Given the description of an element on the screen output the (x, y) to click on. 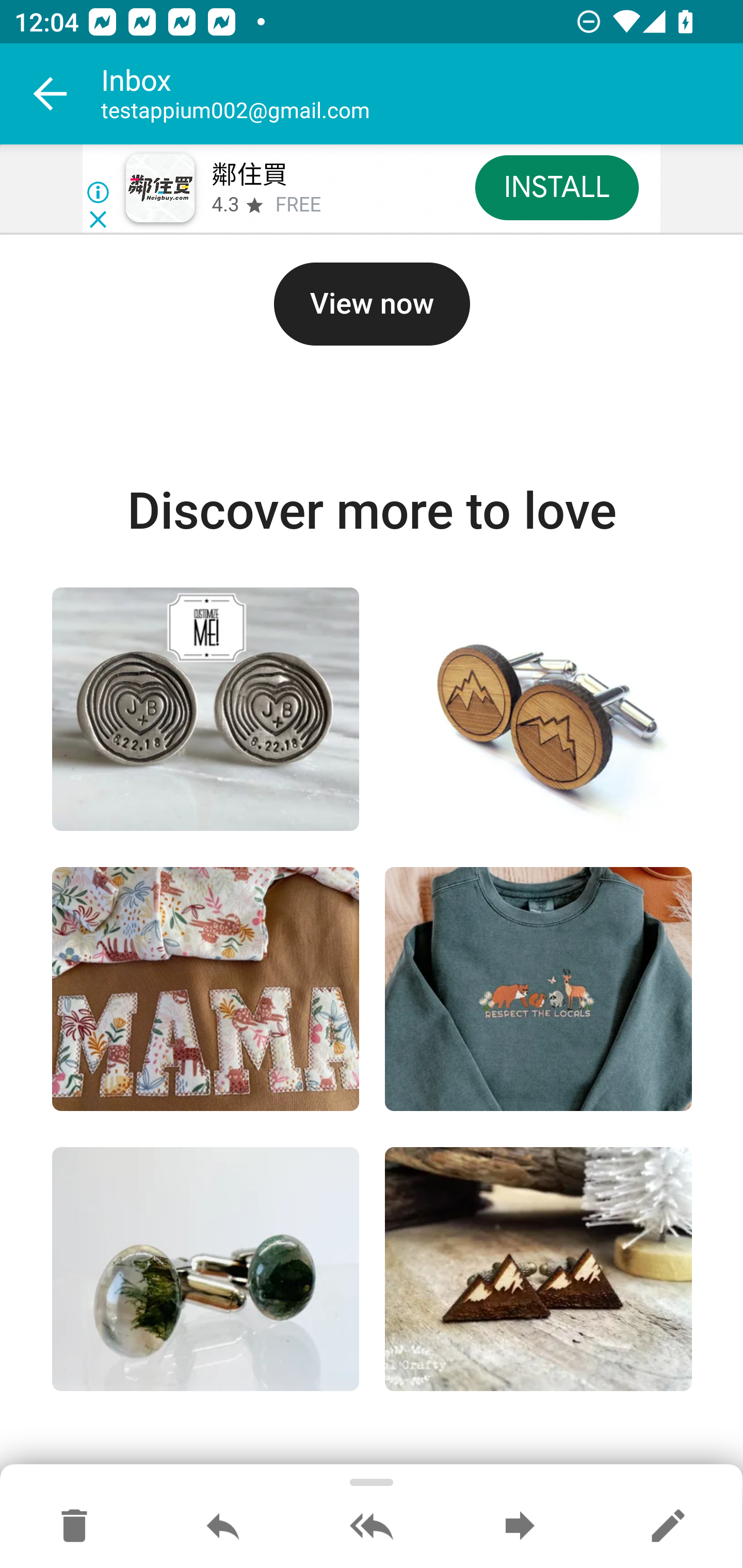
Navigate up (50, 93)
Inbox testappium002@gmail.com (422, 93)
INSTALL (556, 187)
鄰住買 (249, 175)
4.3 (224, 204)
FREE (298, 204)
View now (371, 304)
Move to Deleted (74, 1527)
Reply (222, 1527)
Reply all (371, 1527)
Forward (519, 1527)
Reply as new (667, 1527)
